Given the description of an element on the screen output the (x, y) to click on. 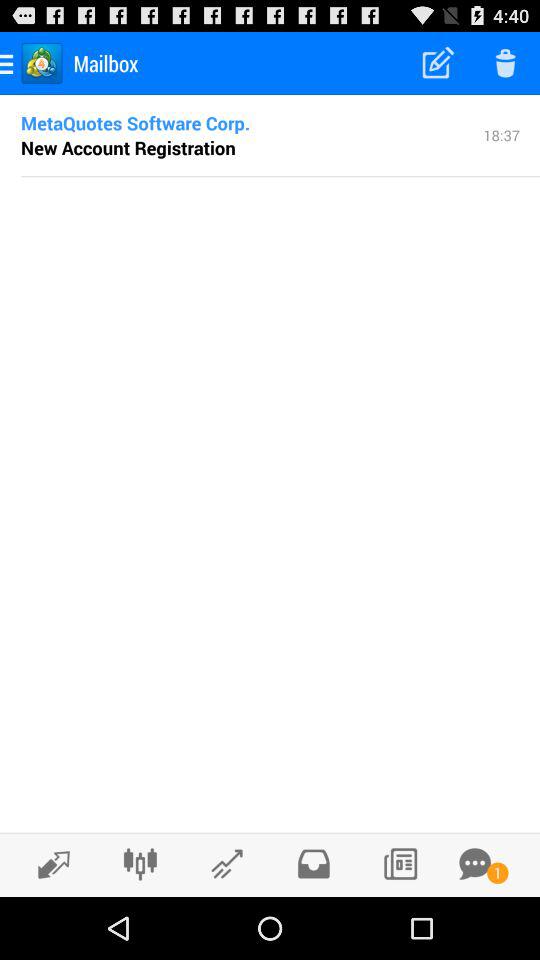
flip to the 18:37 (501, 134)
